Given the description of an element on the screen output the (x, y) to click on. 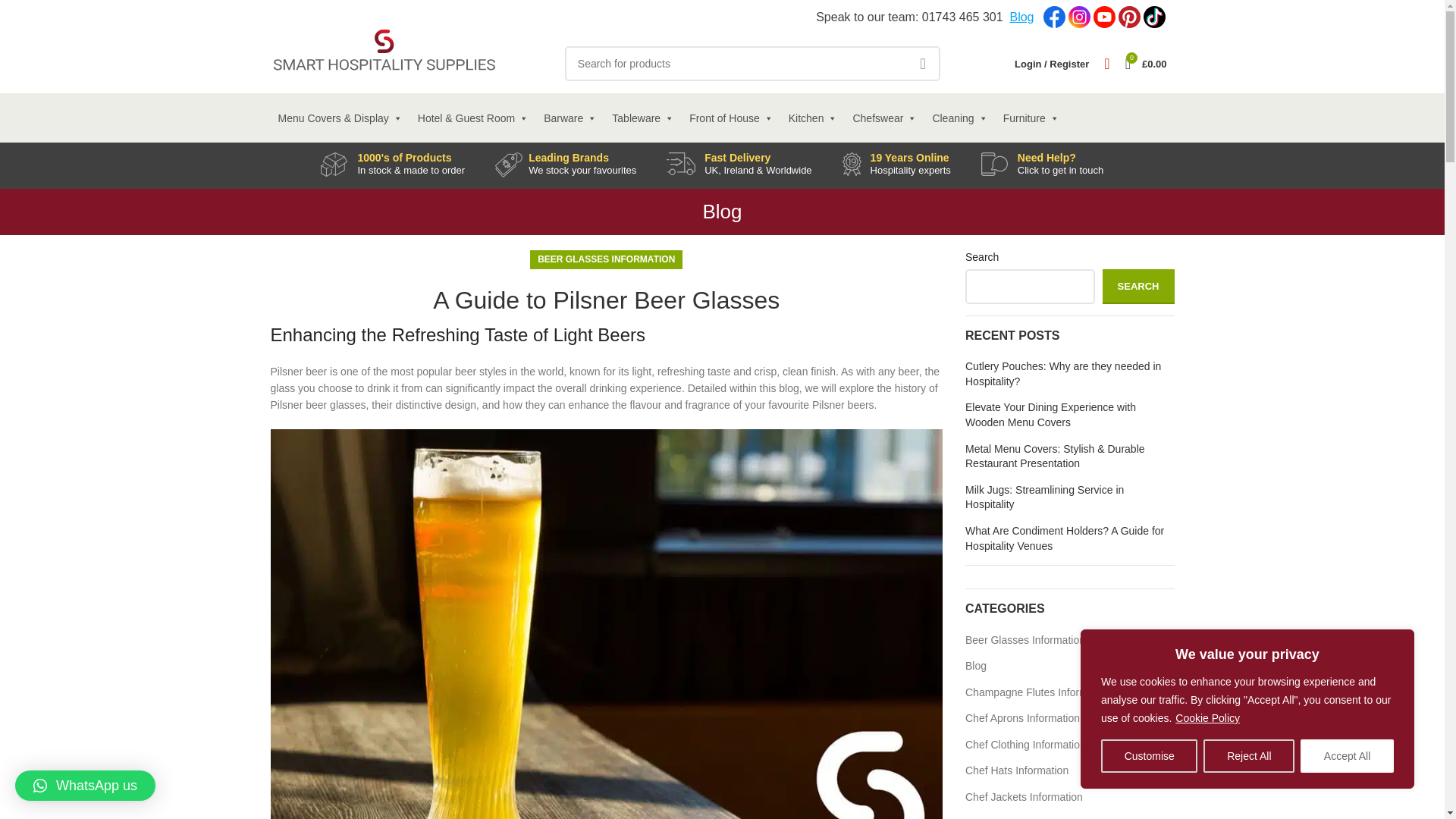
Accept All (1346, 756)
My Wishlist (1106, 63)
Search for products (752, 63)
Blog (1021, 16)
Customise (1148, 756)
My account (1051, 63)
Cookie Policy (1207, 717)
Reject All (1249, 756)
Shopping cart (1146, 63)
